Given the description of an element on the screen output the (x, y) to click on. 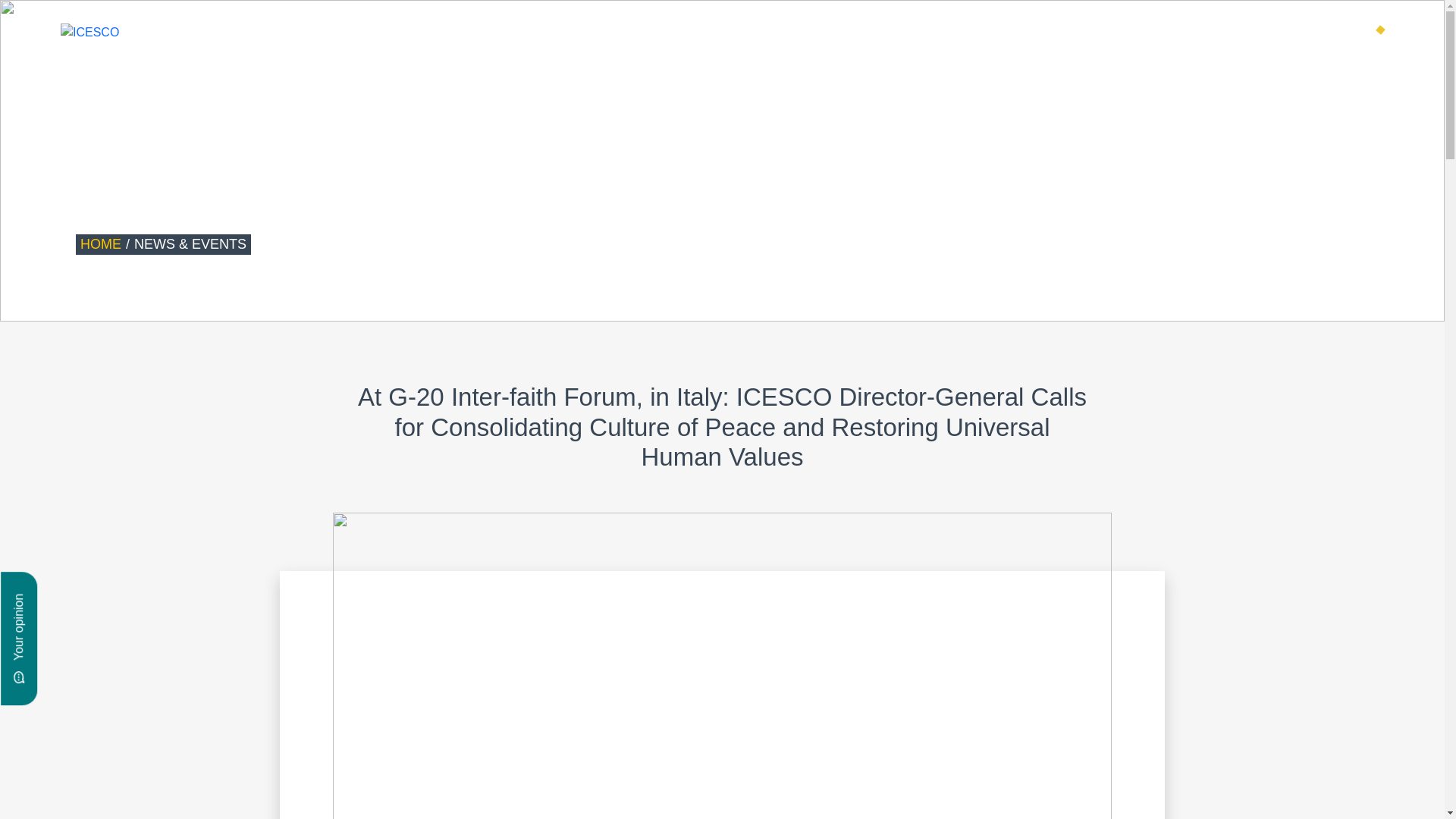
Go to Home. (100, 243)
